Given the description of an element on the screen output the (x, y) to click on. 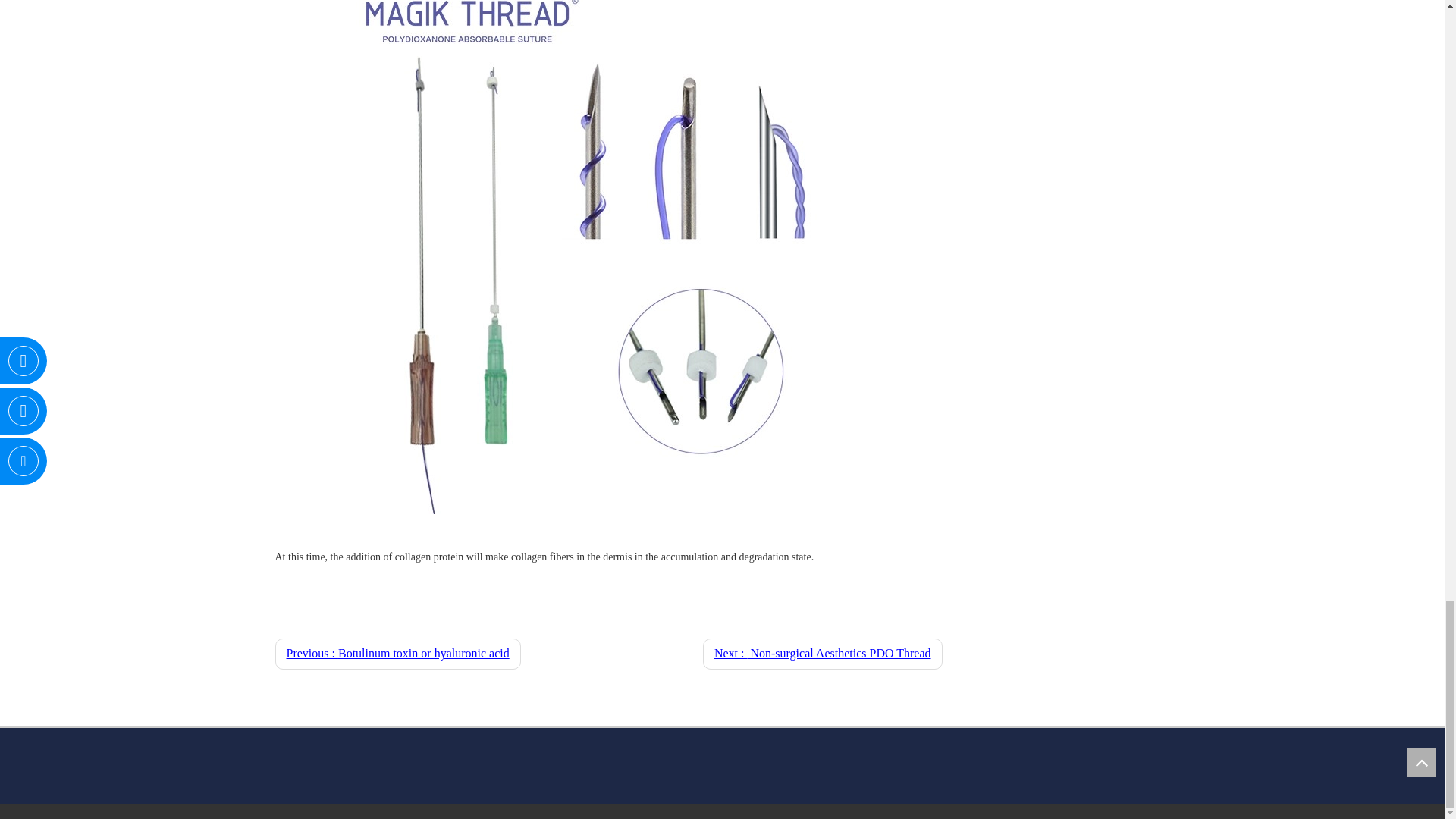
Next :  Non-surgical Aesthetics PDO Thread (822, 653)
Previous : Botulinum toxin or hyaluronic acid (397, 653)
